Given the description of an element on the screen output the (x, y) to click on. 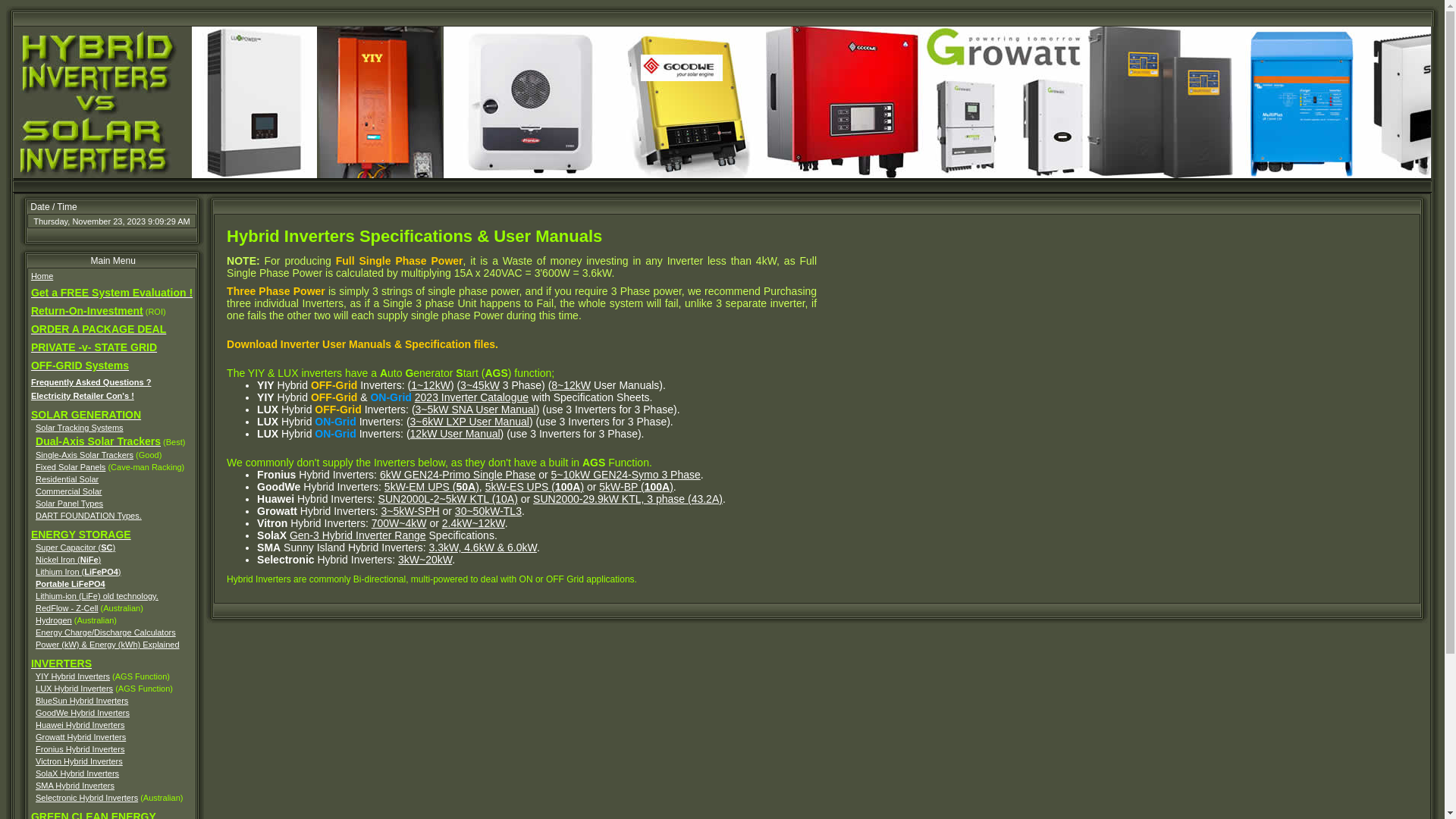
Power (kW) & Energy (kWh) Explained Element type: text (107, 644)
3~5kW SNA User Manual Element type: text (475, 409)
OFF-GRID Systems Element type: text (79, 365)
ORDER A PACKAGE DEAL Element type: text (98, 329)
Fixed Solar Panels Element type: text (70, 466)
DART FOUNDATION Types. Element type: text (88, 515)
Return-On-Investment Element type: text (87, 311)
3kW~20kW Element type: text (424, 559)
SUN2000L-2~5kW KTL (10A) Element type: text (447, 498)
30~50kW-TL3 Element type: text (488, 511)
Solar Tracking Systems Element type: text (79, 427)
Lithium Iron (LiFePO4) Element type: text (78, 571)
Huawei Hybrid Inverters Element type: text (79, 724)
3.3kW, 4.6kW & 6.0kW Element type: text (482, 547)
5kW-BP (100A) Element type: text (636, 486)
Frequently Asked Questions ? Element type: text (91, 381)
LUX Hybrid Inverters Element type: text (73, 688)
SOLAR GENERATION Element type: text (86, 415)
6kW GEN24-Primo Single Phase Element type: text (457, 474)
Energy Charge/Discharge Calculators Element type: text (105, 632)
Victron Hybrid Inverters Element type: text (78, 760)
5~10kW GEN24-Symo 3 Phase Element type: text (625, 474)
SUN2000-29.9kW KTL, 3 phase (43.2A) Element type: text (627, 498)
Selectronic Hybrid Inverters Element type: text (86, 797)
2023 Inverter Catalogue Element type: text (471, 397)
Growatt Hybrid Inverters Element type: text (80, 736)
ENERGY STORAGE Element type: text (81, 534)
Solar Panel Types Element type: text (69, 503)
PRIVATE -v- STATE GRID Element type: text (93, 347)
INVERTERS Element type: text (61, 663)
3~5kW-SPH Element type: text (409, 511)
SolaX Hybrid Inverters Element type: text (77, 773)
Super Capacitor (SC) Element type: text (75, 547)
Gen-3 Hybrid Inverter Range Element type: text (357, 535)
3~6kW LXP User Manual Element type: text (469, 421)
BlueSun Hybrid Inverters Element type: text (81, 700)
Dual-Axis Solar Trackers Element type: text (97, 441)
Home Element type: text (42, 275)
RedFlow - Z-Cell Element type: text (66, 607)
GoodWe Hybrid Inverters Element type: text (82, 712)
5kW-EM UPS (50A) Element type: text (431, 486)
YIY Hybrid Inverters Element type: text (72, 675)
12kW User Manual Element type: text (455, 433)
3~45kW Element type: text (479, 385)
Nickel Iron (NiFe) Element type: text (67, 559)
Residential Solar Element type: text (66, 478)
8~12kW Element type: text (570, 385)
1~12kW Element type: text (430, 385)
Hydrogen Element type: text (53, 619)
Electricity Retailer Con's ! Element type: text (82, 395)
Portable LiFePO4 Element type: text (70, 583)
SMA Hybrid Inverters Element type: text (74, 785)
Lithium-ion (LiFe) old technology. Element type: text (96, 595)
2.4kW~12kW Element type: text (473, 523)
Commercial Solar Element type: text (68, 490)
700W~4kW Element type: text (398, 523)
Get a FREE System Evaluation ! Element type: text (111, 293)
Fronius Hybrid Inverters Element type: text (79, 748)
Single-Axis Solar Trackers Element type: text (84, 454)
5kW-ES UPS (100A) Element type: text (534, 486)
